Given the description of an element on the screen output the (x, y) to click on. 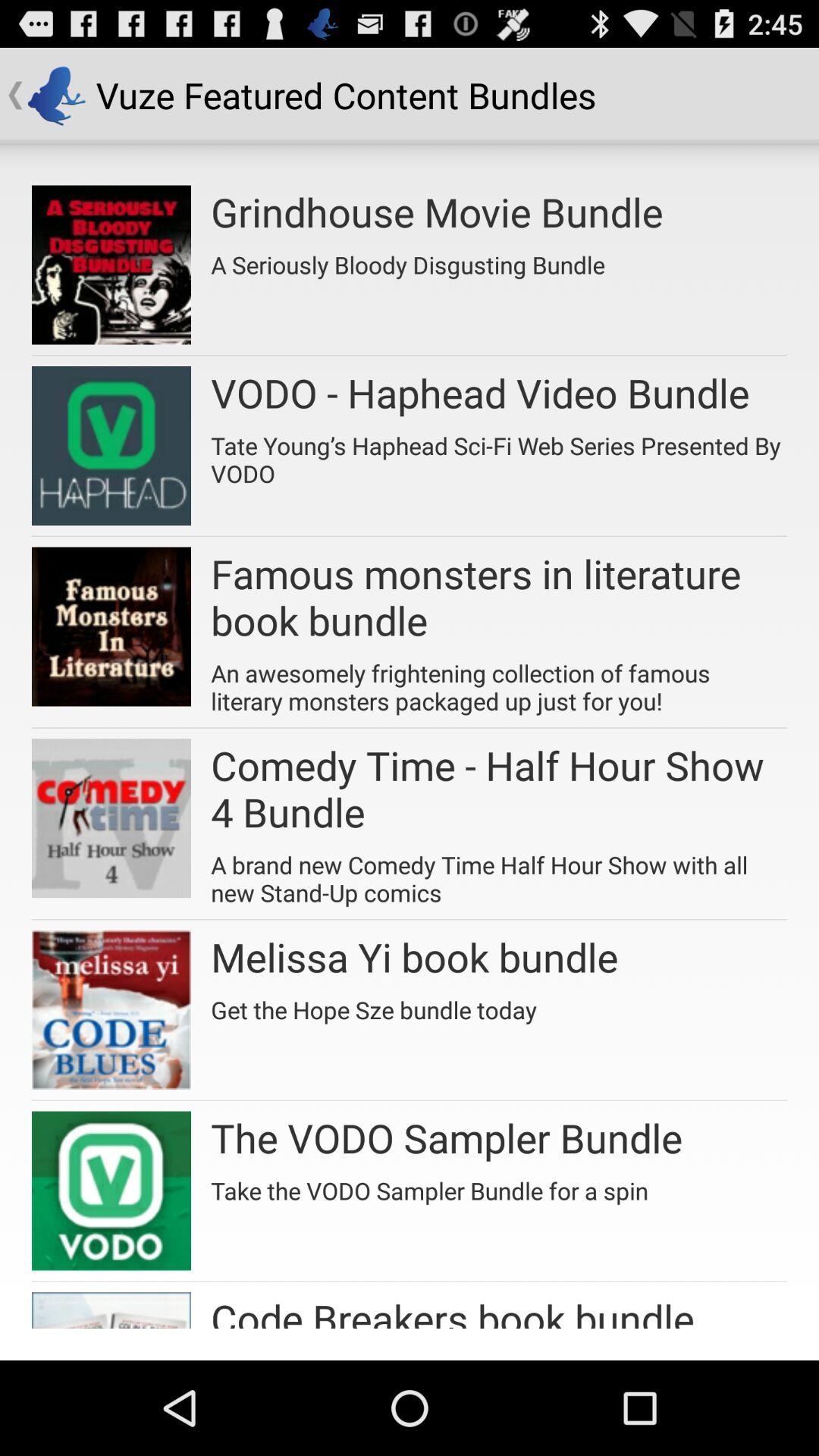
tap the grindhouse movie bundle item (437, 211)
